Given the description of an element on the screen output the (x, y) to click on. 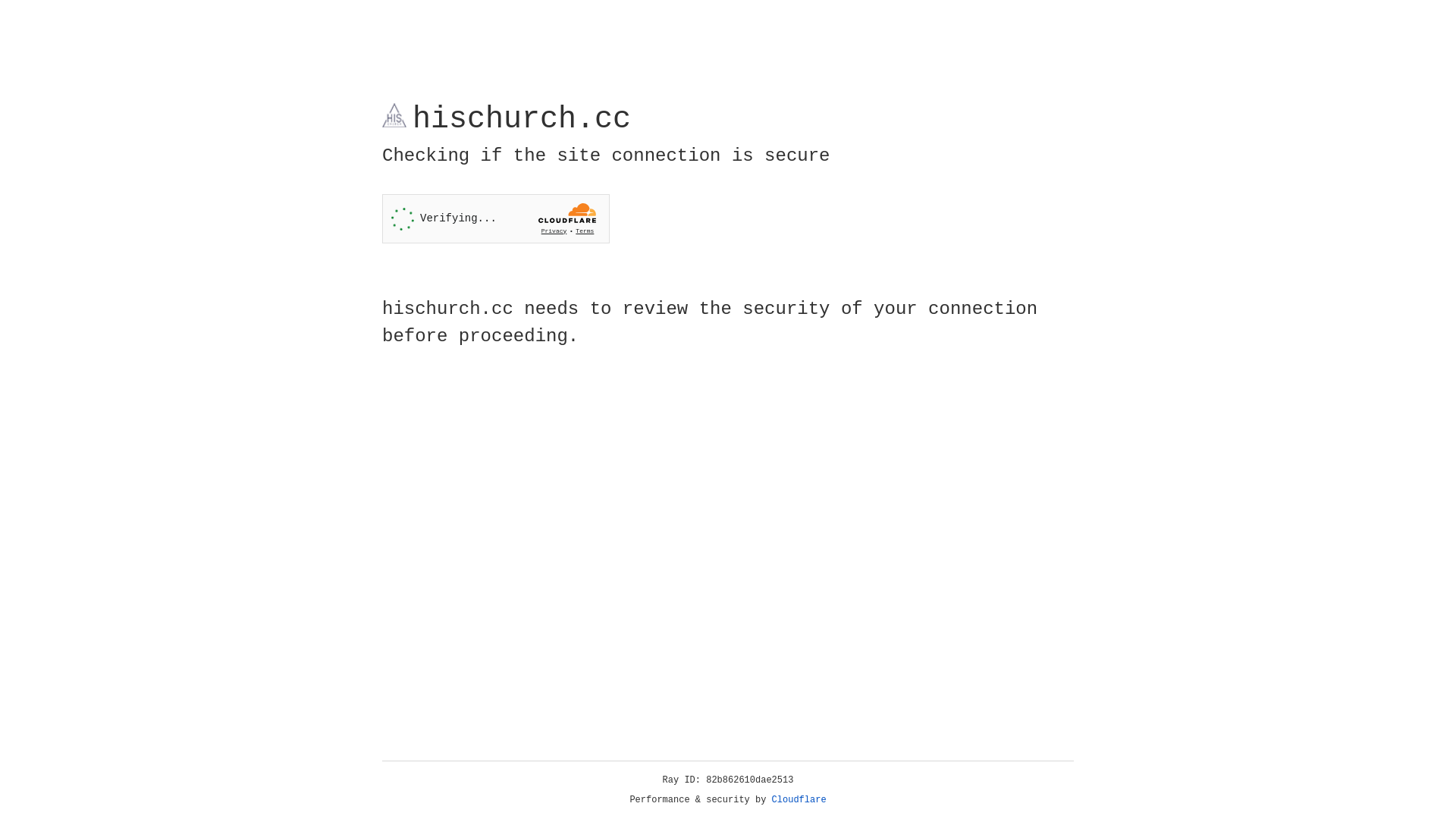
Widget containing a Cloudflare security challenge Element type: hover (495, 218)
Cloudflare Element type: text (798, 799)
